Given the description of an element on the screen output the (x, y) to click on. 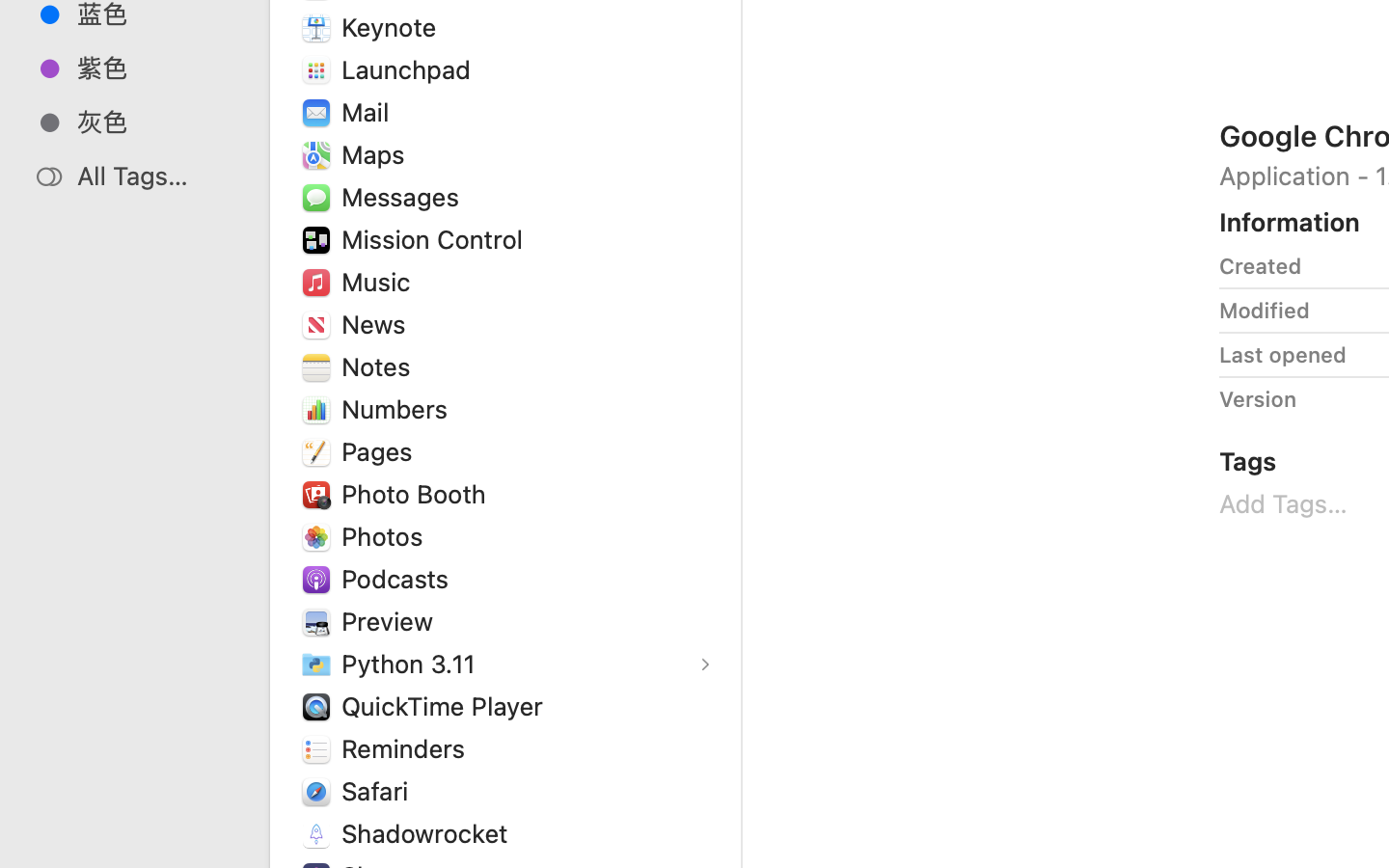
灰色 Element type: AXStaticText (155, 121)
Pages Element type: AXTextField (380, 450)
Mission Control Element type: AXTextField (436, 238)
Information Element type: AXStaticText (1289, 221)
Music Element type: AXTextField (379, 281)
